Given the description of an element on the screen output the (x, y) to click on. 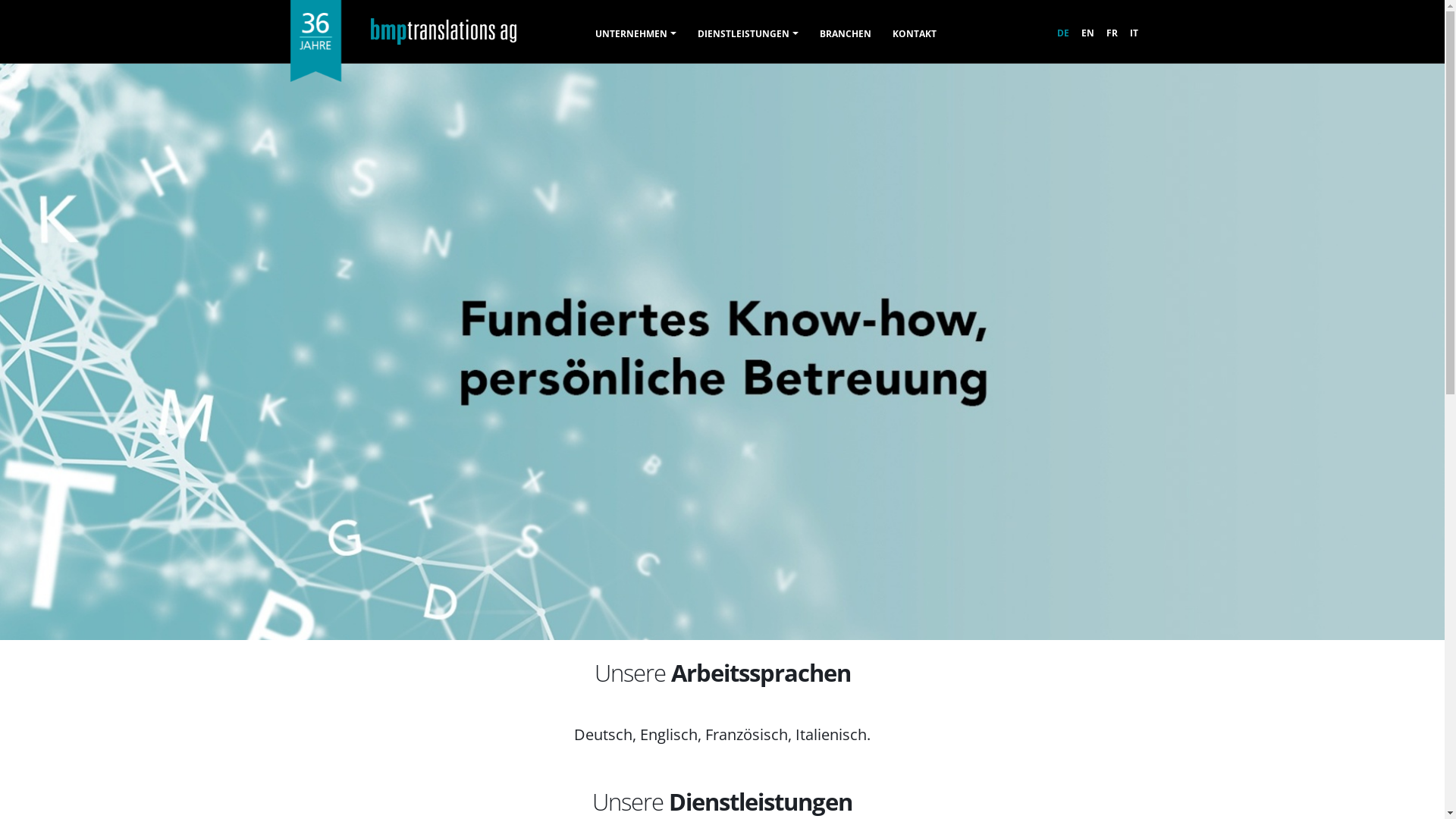
DIENSTLEISTUNGEN Element type: text (747, 33)
UNTERNEHMEN Element type: text (635, 33)
BRANCHEN Element type: text (845, 33)
KONTAKT Element type: text (914, 33)
